Given the description of an element on the screen output the (x, y) to click on. 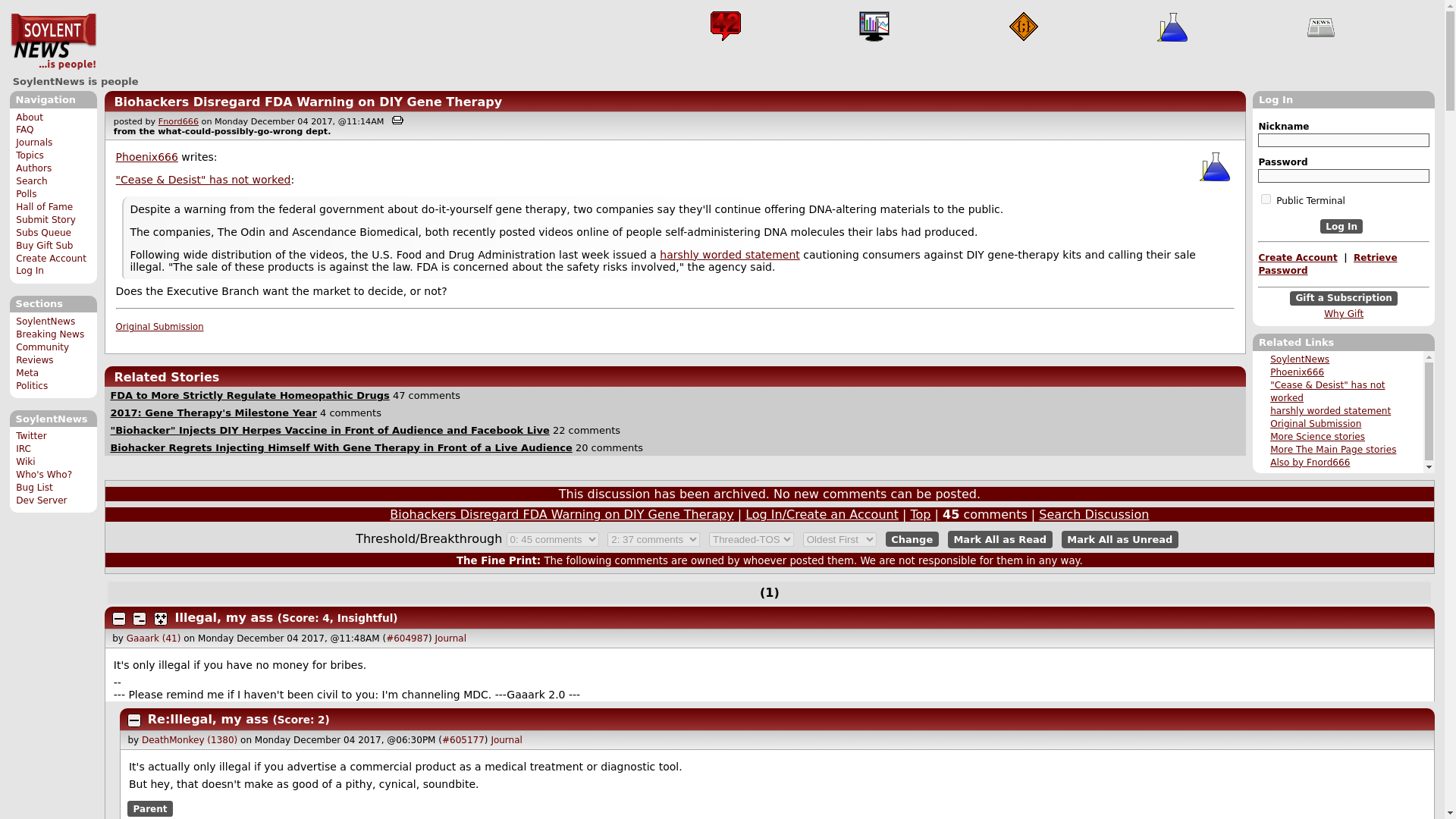
Dev Server (41, 500)
Answers (725, 26)
Who's Who? (43, 474)
Science (1172, 26)
Create Account (50, 258)
yes (1265, 198)
Hall of Fame (44, 206)
Code (1024, 26)
Submit Story (45, 219)
Phoenix666 (1296, 371)
Authors (33, 167)
Polls (26, 194)
Business (874, 26)
Science (1214, 165)
IRC (23, 448)
